Given the description of an element on the screen output the (x, y) to click on. 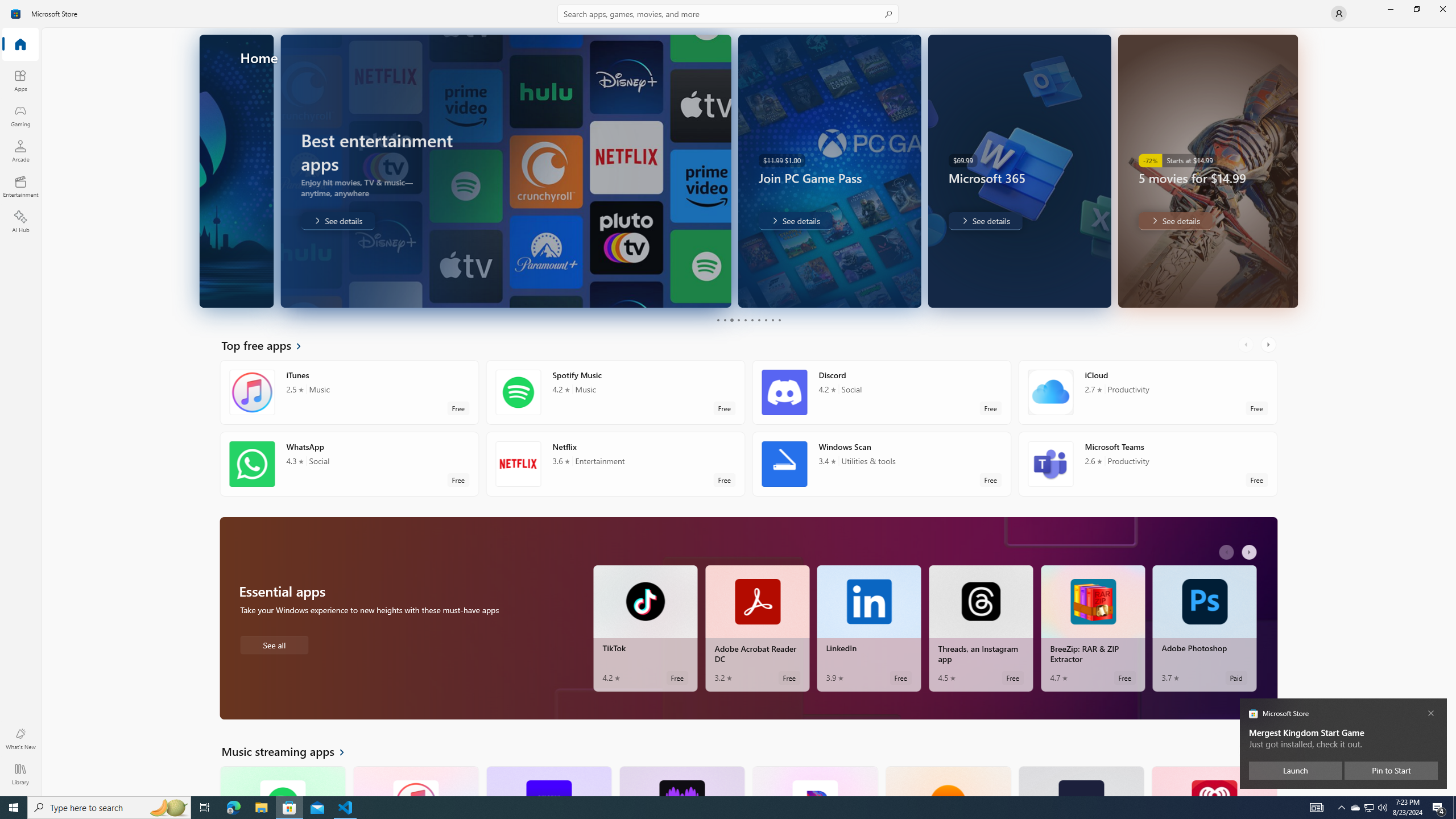
Page 8 (764, 319)
AutomationID: LeftScrollButton (1246, 750)
See all  Top free apps (268, 345)
Home (20, 45)
